Given the description of an element on the screen output the (x, y) to click on. 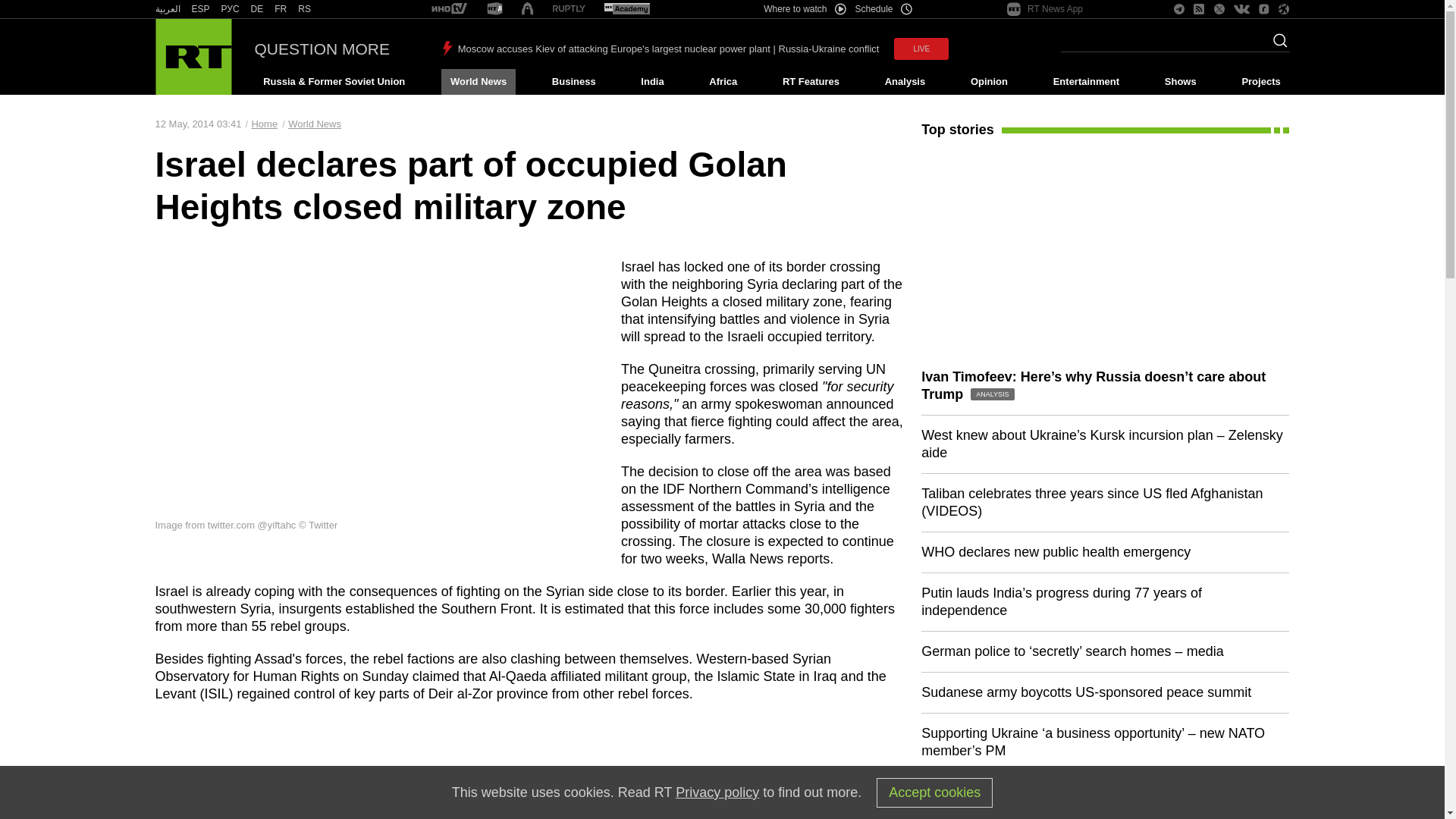
Opinion (988, 81)
RT News App (1045, 9)
Analysis (905, 81)
ESP (199, 9)
RT Features (810, 81)
Africa (722, 81)
RT  (626, 9)
Search (1276, 44)
Entertainment (1085, 81)
RS (304, 9)
